Given the description of an element on the screen output the (x, y) to click on. 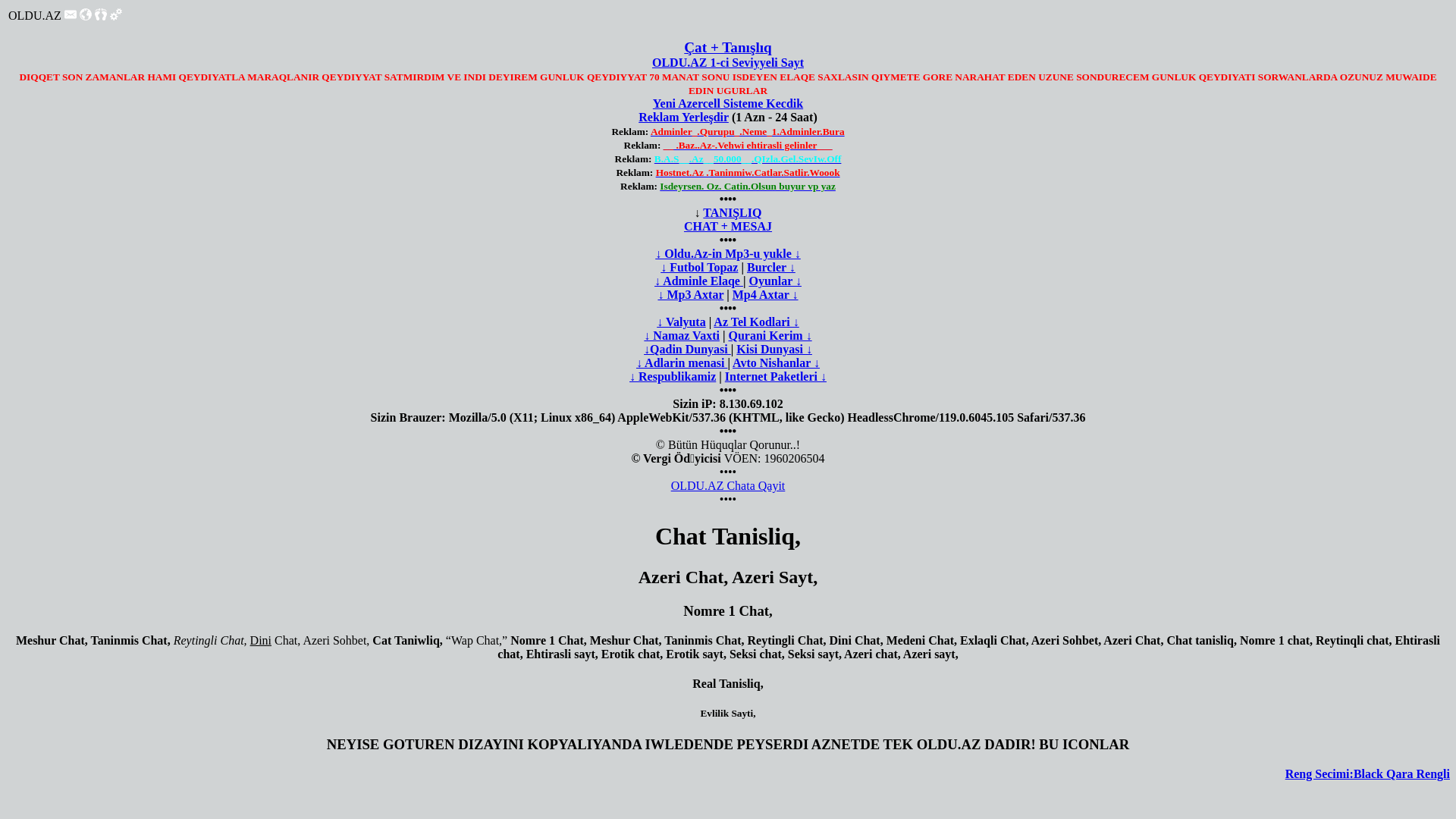
OLDU.AZ Chata Qayit Element type: text (728, 485)
Yeni Azercell Sisteme Kecdik Element type: text (727, 103)
Mesajlar Element type: hover (70, 15)
Qonaqlar Element type: hover (100, 15)
Reng Secimi:Black Qara Rengli Element type: text (1367, 773)
Hostnet.Az .Taninmiw.Catlar.Satlir.Woook Element type: text (747, 172)
B.A.S__.Az__50.000__.QIzla.Gel.SevIw.Off Element type: text (747, 158)
Adminler_.Qurupu_.Neme_1.Adminler.Bura Element type: text (747, 131)
CHAT + MESAJ Element type: text (727, 225)
OLDU.AZ 1-ci Seviyyeli Sayt Element type: text (727, 62)
Mesajlar Element type: hover (70, 14)
__ .Baz..Az-.Vehwi ehtirasli gelinler___ Element type: text (747, 144)
Isdeyrsen. Oz. Catin.Olsun buyur vp yaz Element type: text (747, 185)
Qonaqlar Element type: hover (100, 14)
